Given the description of an element on the screen output the (x, y) to click on. 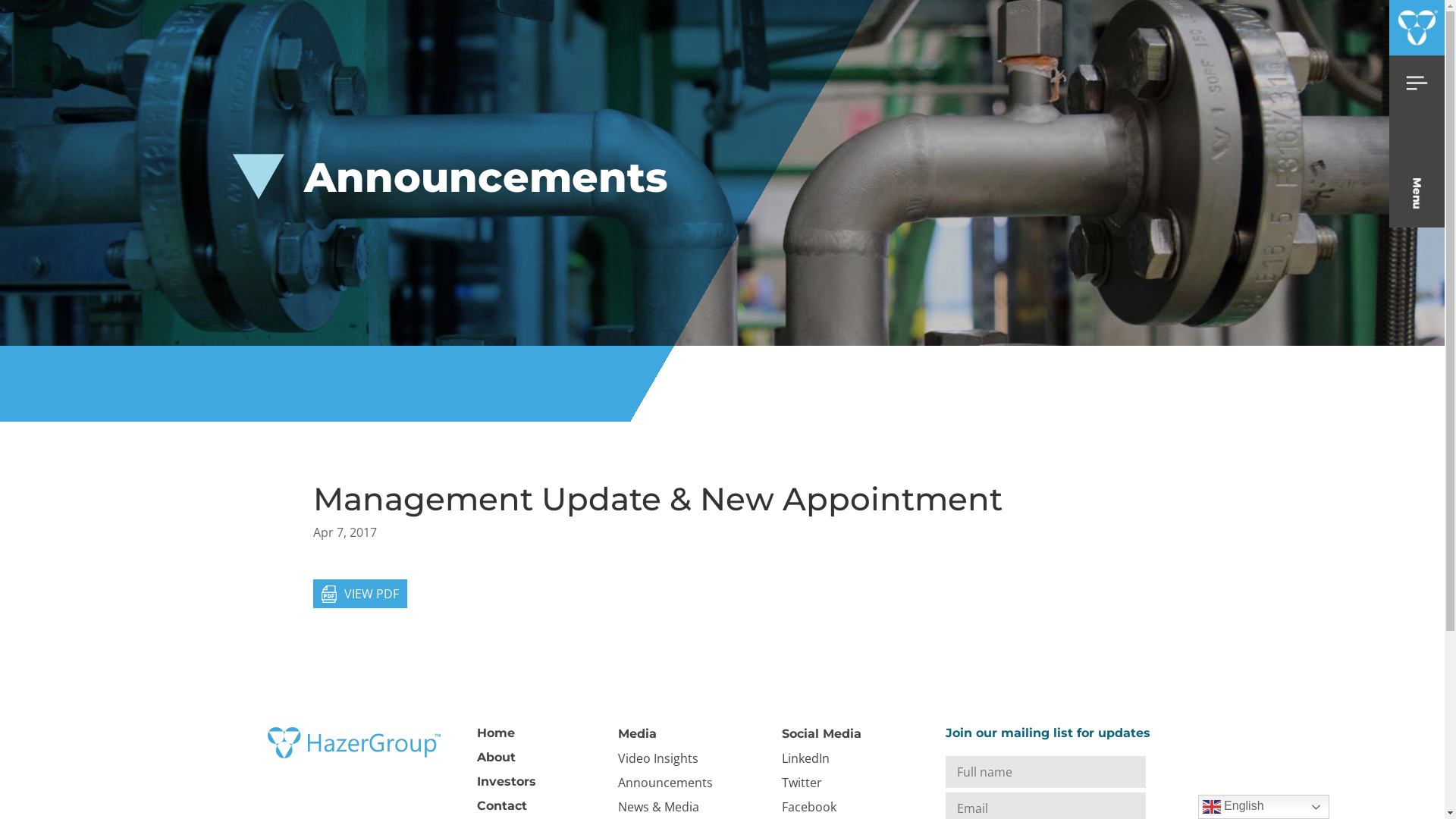
Twitter Element type: text (801, 782)
Contact Element type: text (501, 805)
About Element type: text (495, 756)
LinkedIn Element type: text (804, 757)
Home Element type: text (495, 732)
Video Insights Element type: text (657, 757)
Investors Element type: text (505, 781)
News & Media Element type: text (657, 806)
Facebook Element type: text (808, 806)
VIEW PDF Element type: text (359, 593)
Announcements Element type: text (664, 782)
